Given the description of an element on the screen output the (x, y) to click on. 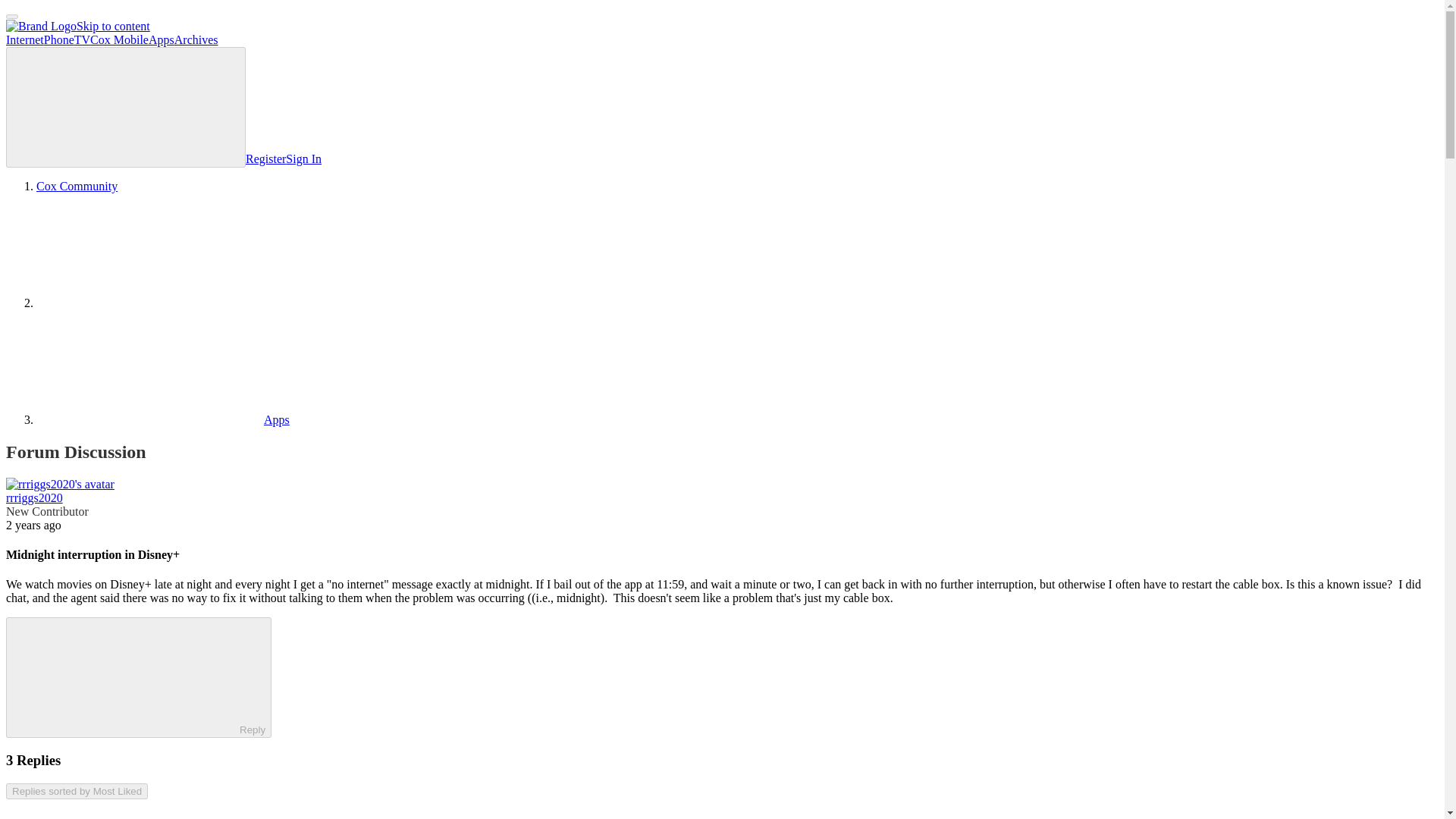
Search (125, 106)
Cox Community (76, 185)
Apps (162, 419)
Replies sorted by Most Liked (76, 790)
Register (265, 158)
Internet (24, 39)
Skip to content (113, 25)
Apps (161, 39)
Archives (196, 39)
February 18, 2023 at 6:04 PM (33, 524)
